Given the description of an element on the screen output the (x, y) to click on. 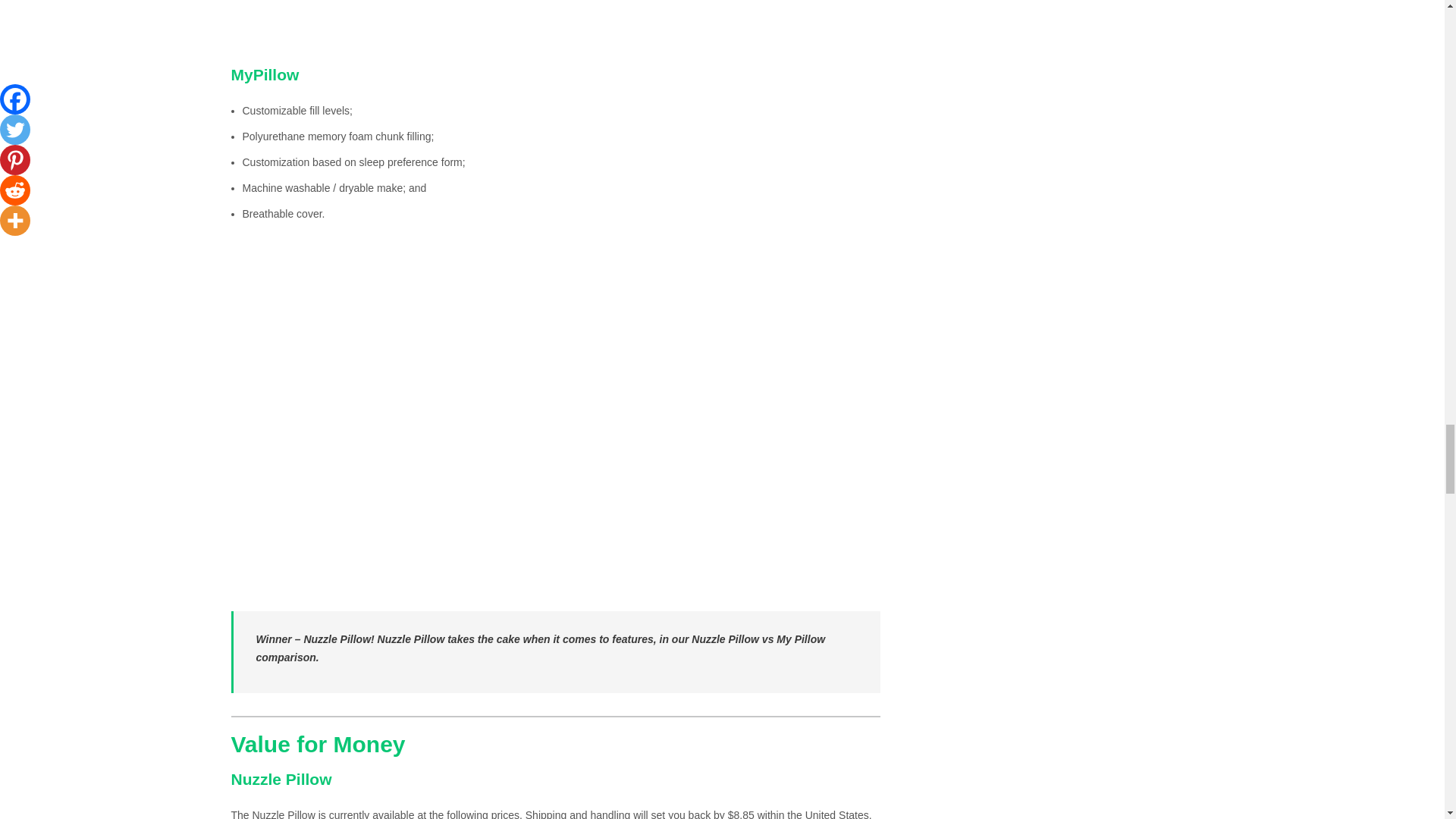
nuzzle pillow 3 (554, 25)
